Given the description of an element on the screen output the (x, y) to click on. 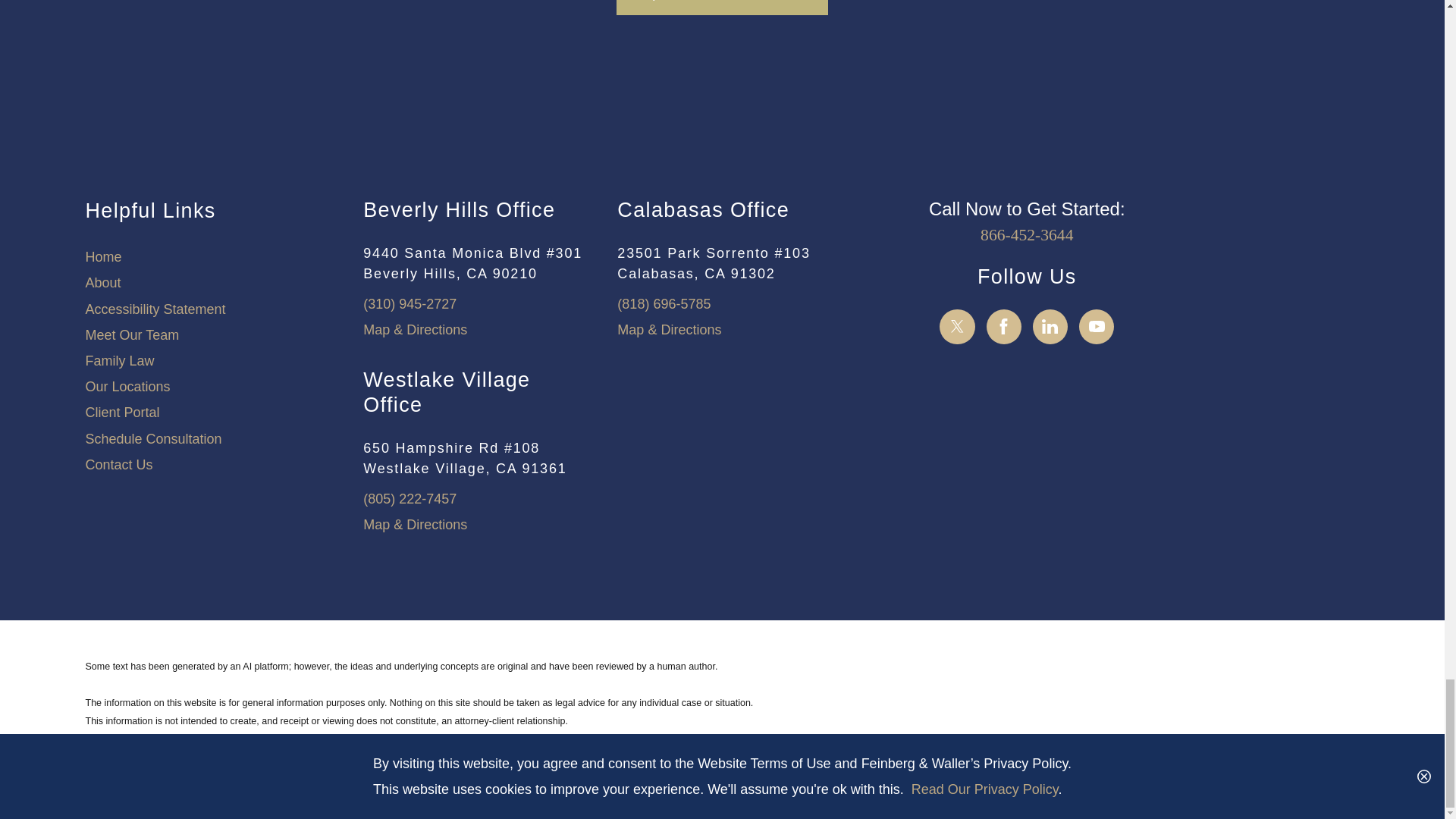
YouTube (1097, 326)
Twitter (957, 326)
Facebook (1003, 326)
LinkedIn (1050, 326)
